Given the description of an element on the screen output the (x, y) to click on. 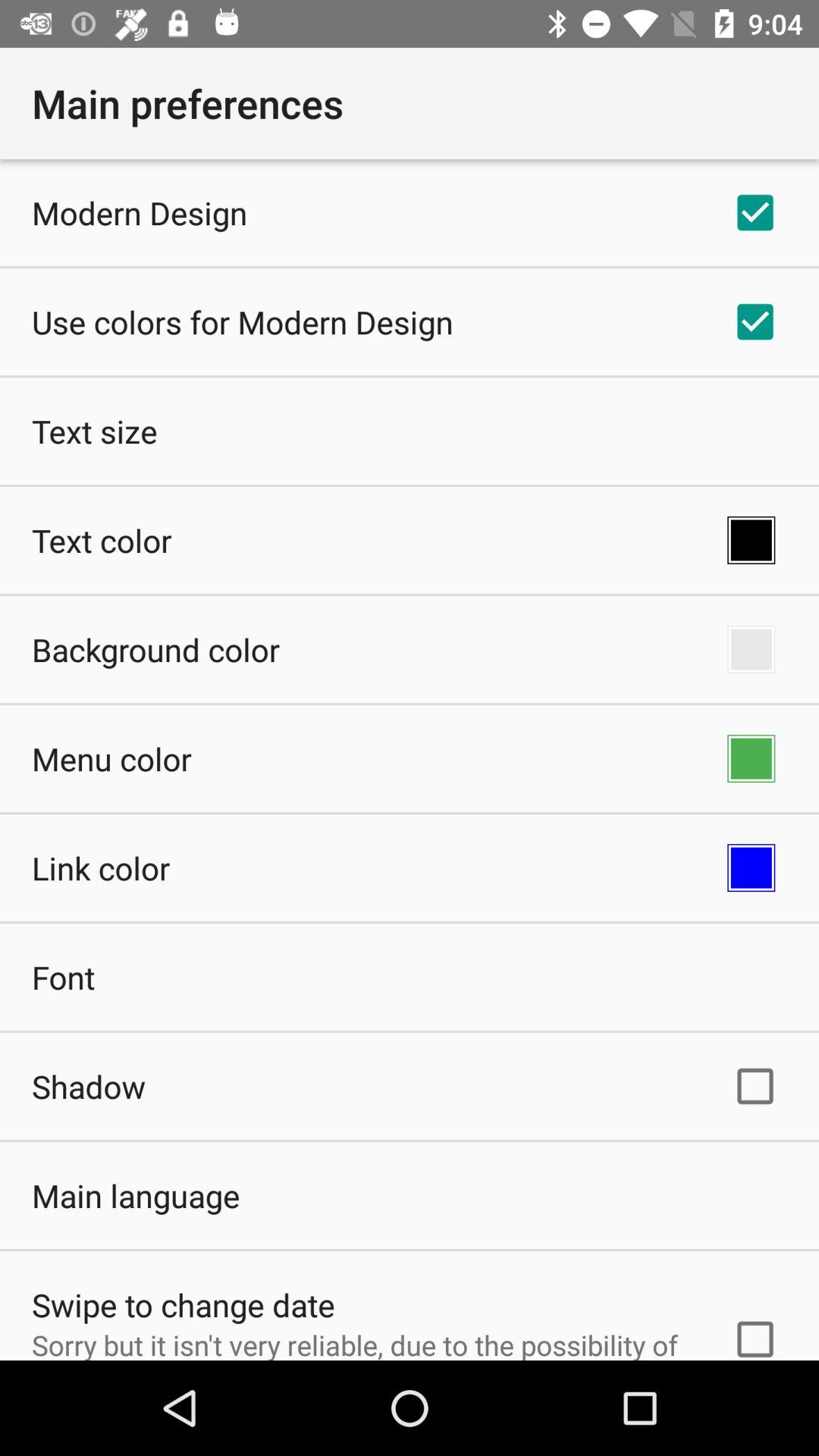
turn off the sorry but it icon (361, 1343)
